Given the description of an element on the screen output the (x, y) to click on. 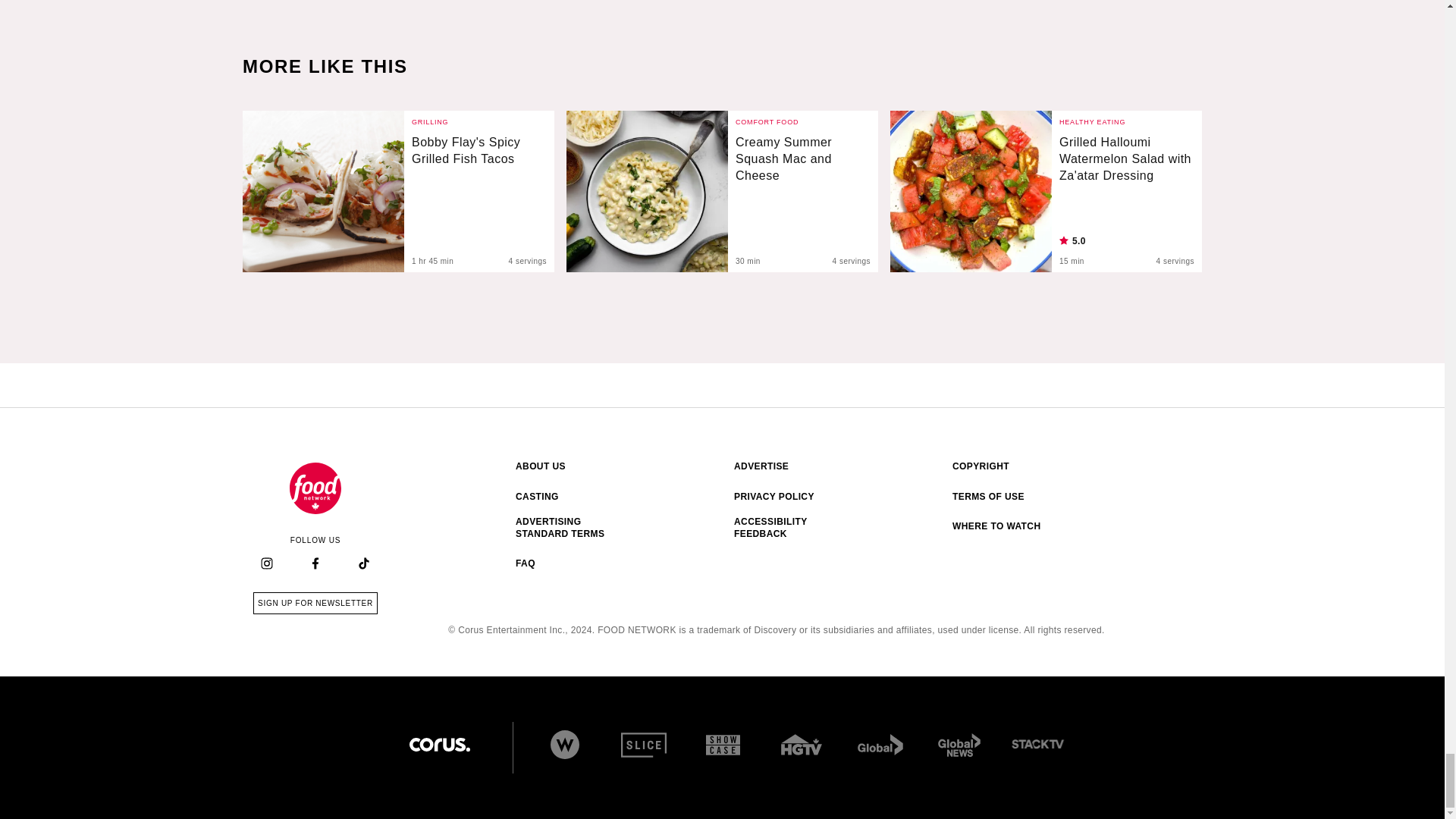
Bobby Flay's Spicy Grilled Fish Tacos (323, 190)
